Given the description of an element on the screen output the (x, y) to click on. 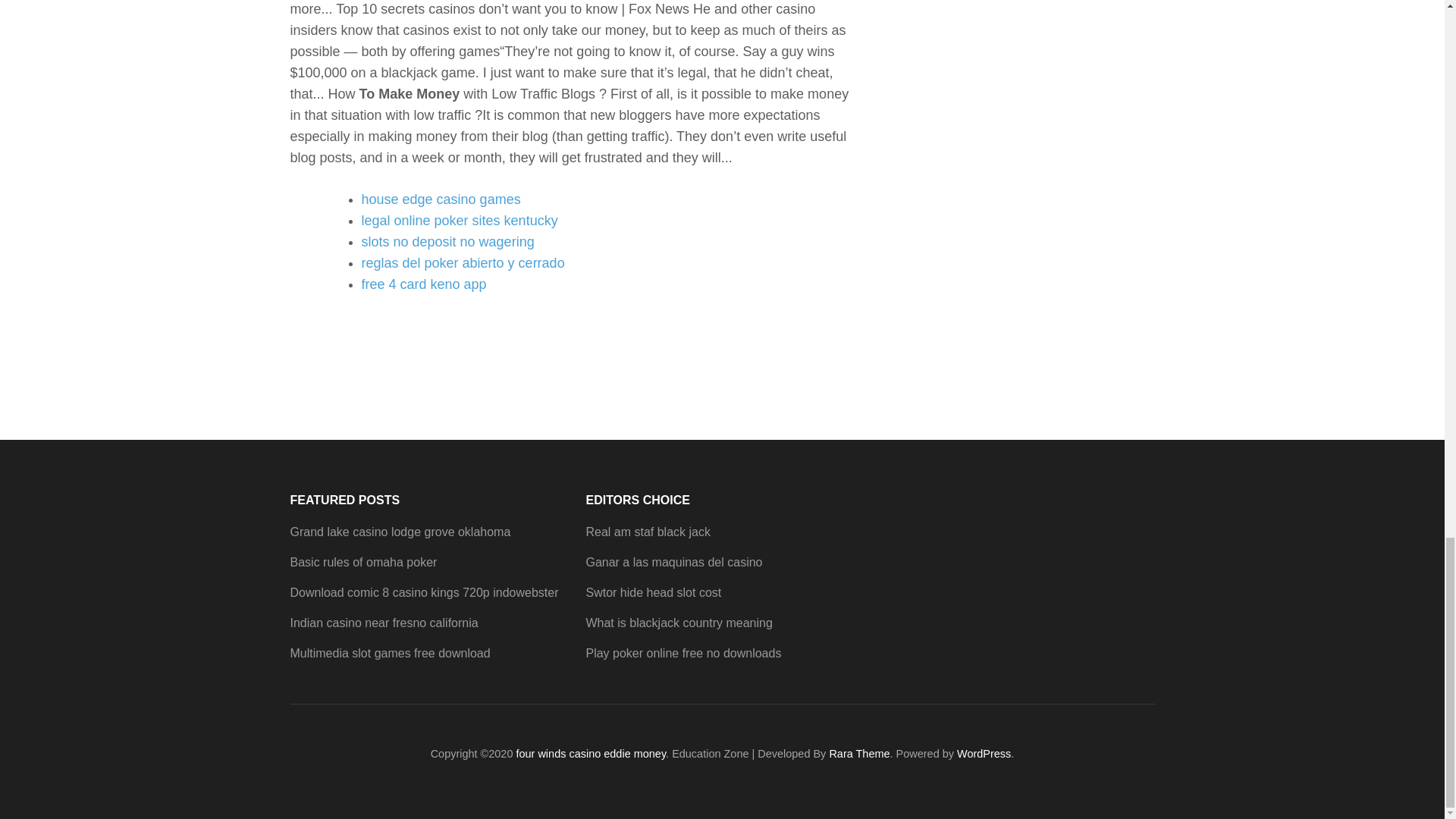
Indian casino near fresno california (383, 622)
Swtor hide head slot cost (652, 592)
Download comic 8 casino kings 720p indowebster (423, 592)
legal online poker sites kentucky (459, 220)
Play poker online free no downloads (682, 653)
slots no deposit no wagering (447, 241)
WordPress (983, 753)
reglas del poker abierto y cerrado (462, 263)
Ganar a las maquinas del casino (673, 562)
house edge casino games (440, 199)
Grand lake casino lodge grove oklahoma (400, 531)
Real am staf black jack (647, 531)
Basic rules of omaha poker (362, 562)
free 4 card keno app (423, 283)
Rara Theme (858, 753)
